Given the description of an element on the screen output the (x, y) to click on. 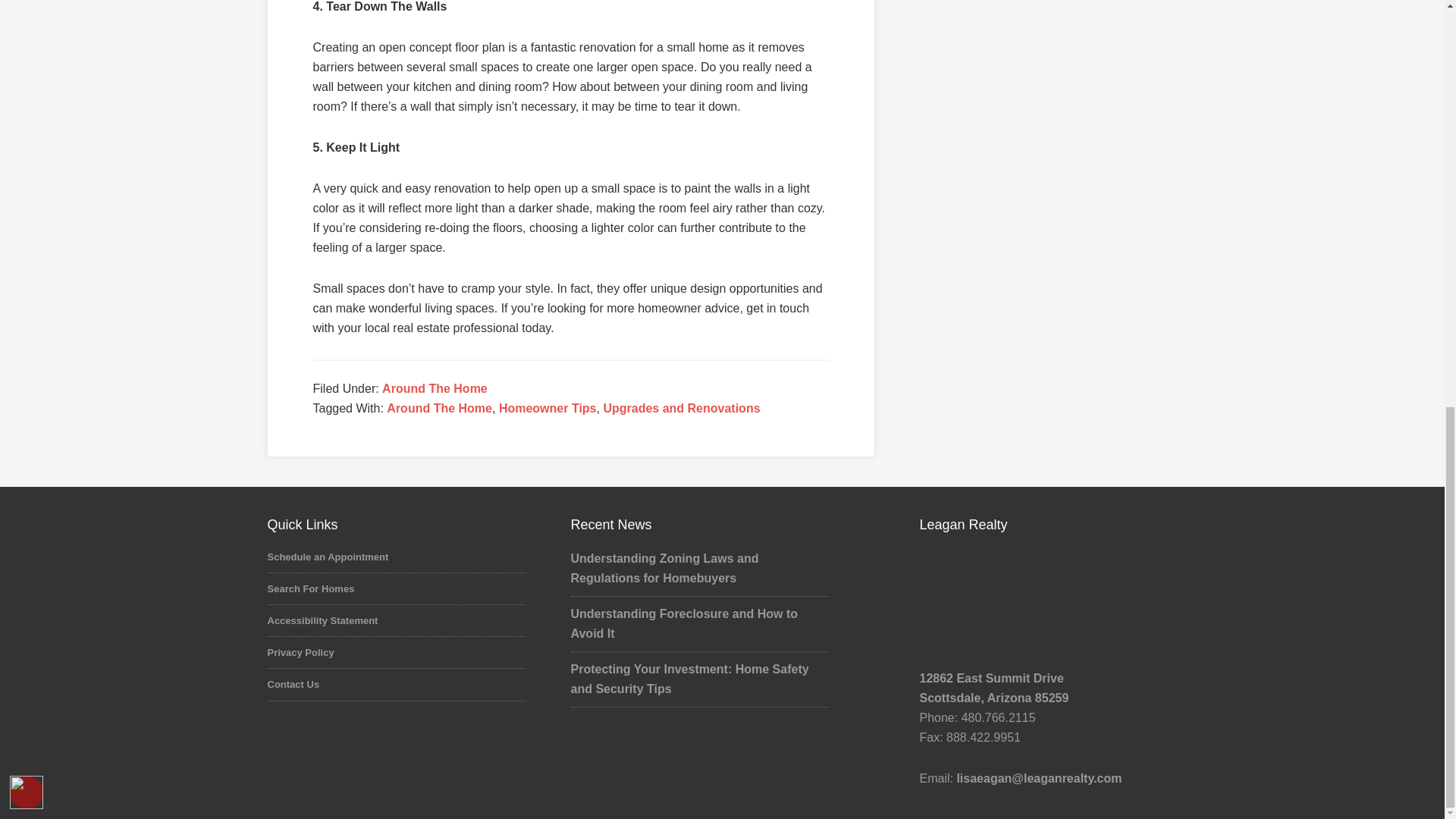
Around The Home (434, 388)
Protecting Your Investment: Home Safety and Security Tips (689, 678)
Homeowner Tips (547, 408)
Around The Home (439, 408)
Upgrades and Renovations (681, 408)
Contact Us (292, 684)
Understanding Zoning Laws and Regulations for Homebuyers (664, 568)
Search For Homes (309, 588)
Accessibility Statement (321, 620)
Privacy Policy (299, 652)
